Given the description of an element on the screen output the (x, y) to click on. 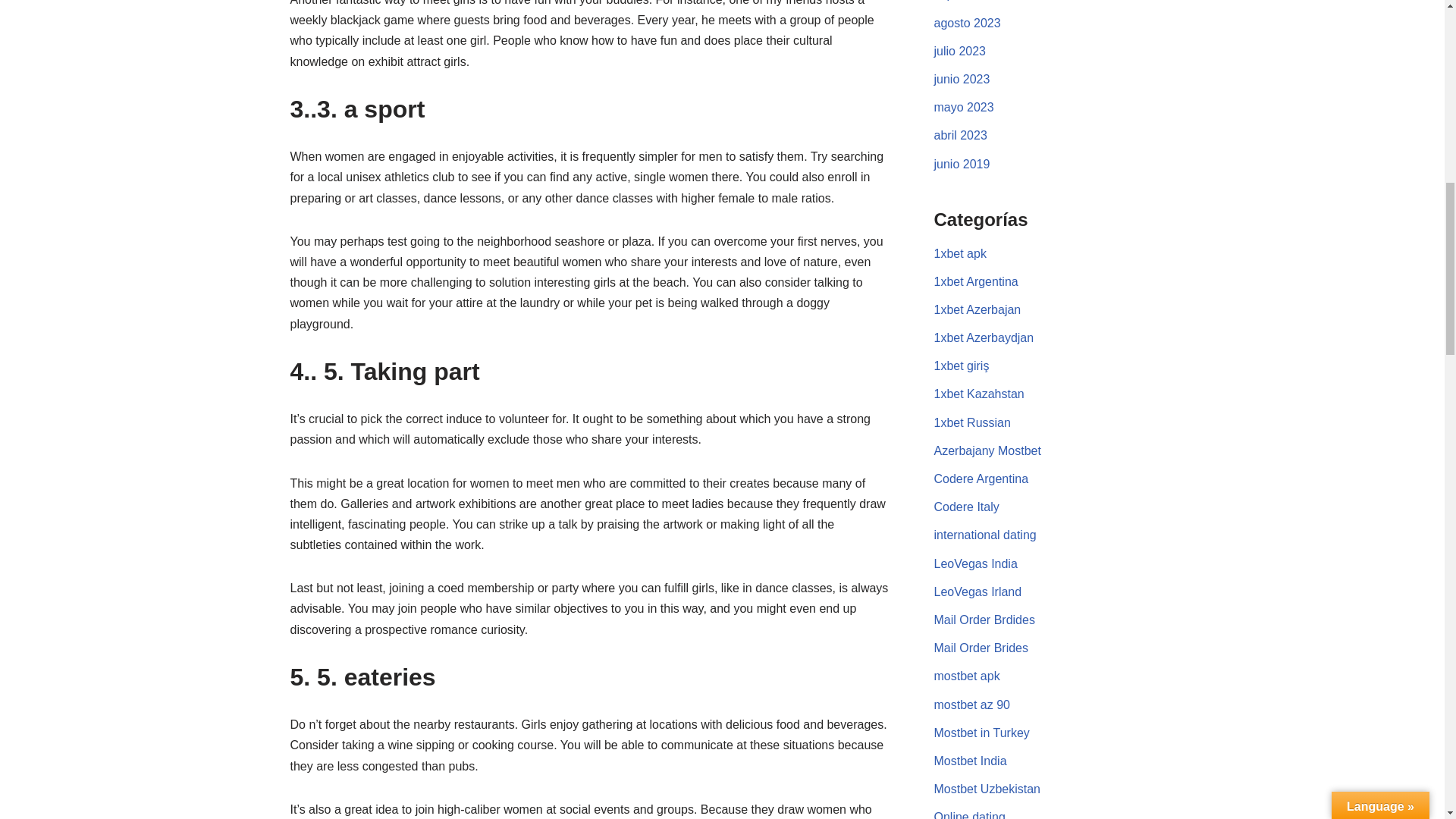
abril 2023 (960, 134)
julio 2023 (960, 51)
junio 2023 (962, 78)
mayo 2023 (964, 106)
junio 2019 (962, 164)
agosto 2023 (967, 22)
1xbet apk (960, 253)
